Given the description of an element on the screen output the (x, y) to click on. 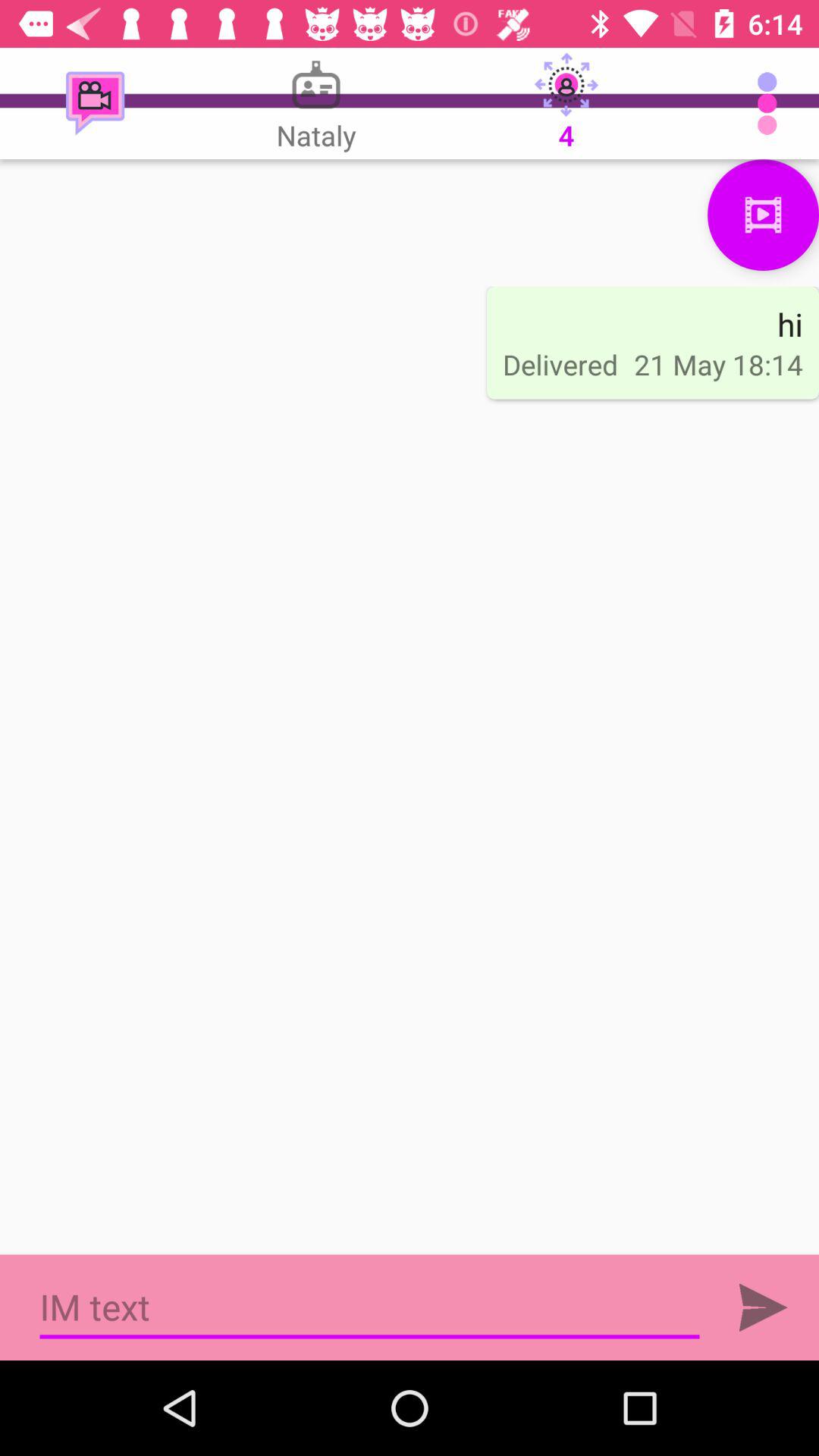
advertisement (369, 1307)
